Given the description of an element on the screen output the (x, y) to click on. 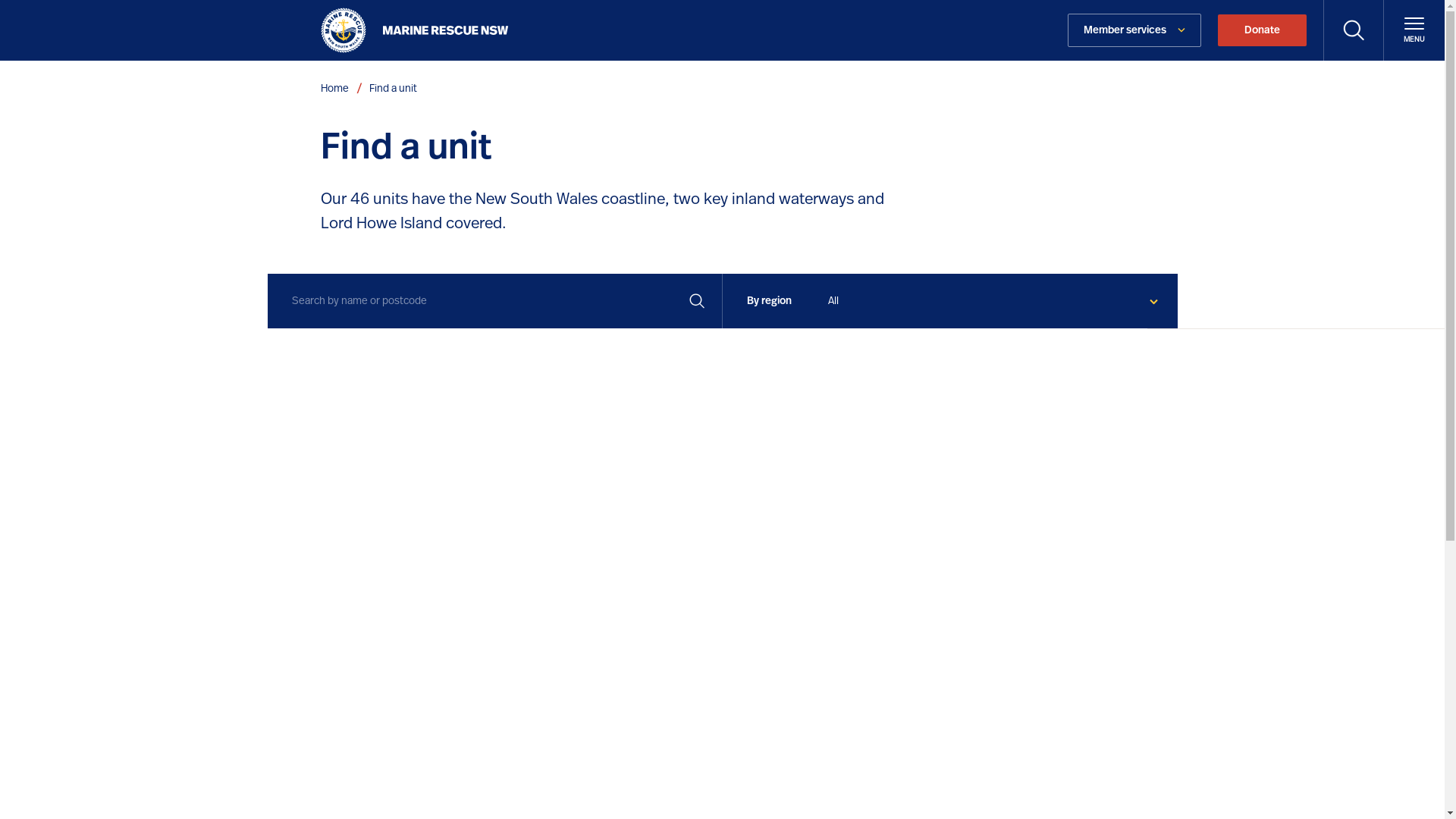
Home Element type: text (334, 88)
Member services Element type: text (1134, 30)
Donate Element type: text (1261, 30)
Find a unit Element type: text (392, 88)
Member services Element type: text (1134, 30)
